Given the description of an element on the screen output the (x, y) to click on. 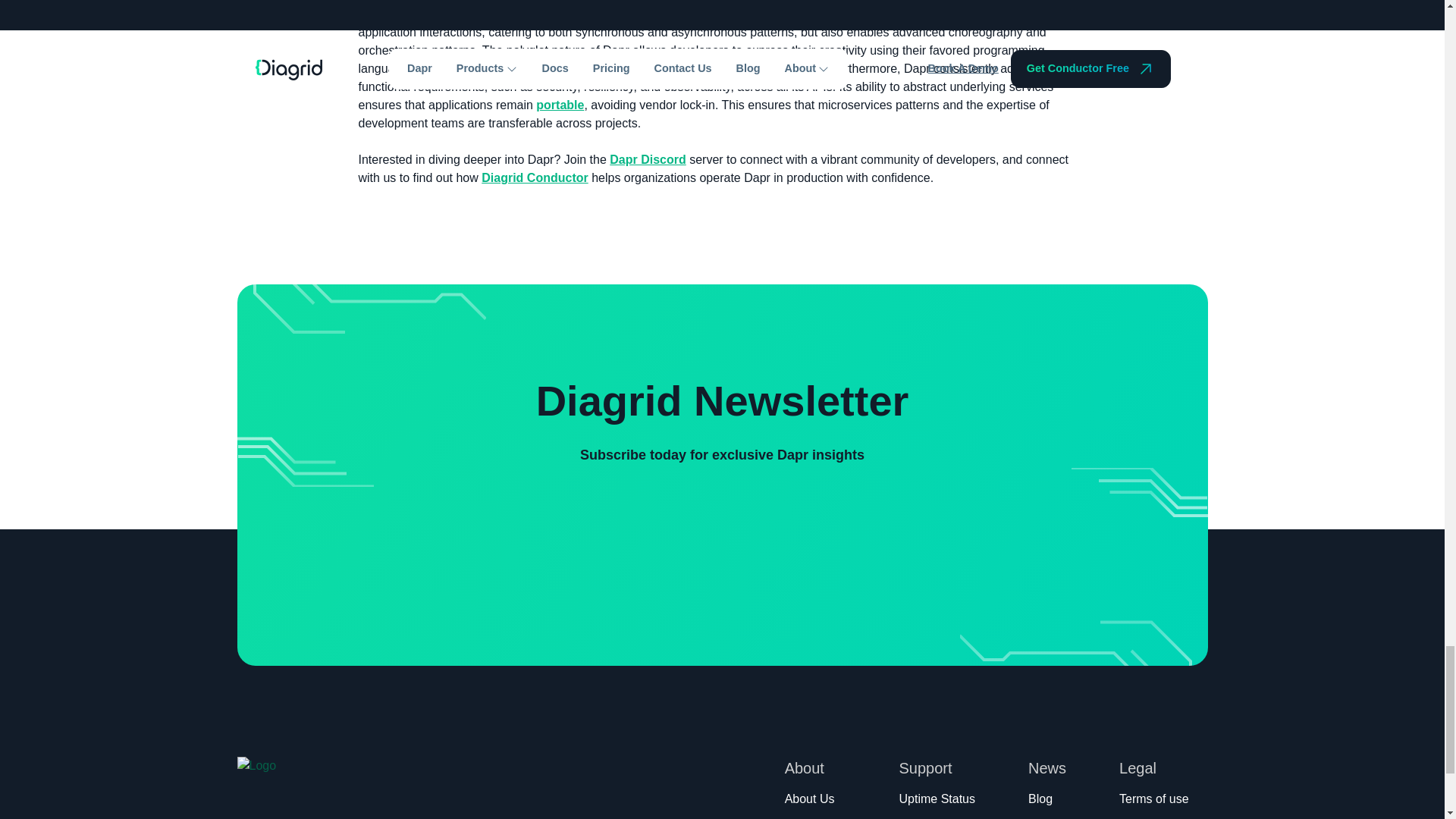
Terms of use (1154, 802)
portable (559, 104)
Diagrid Conductor (534, 177)
About Us (809, 802)
Uptime Status (937, 802)
Dapr Discord (647, 159)
Blog (1039, 802)
